Given the description of an element on the screen output the (x, y) to click on. 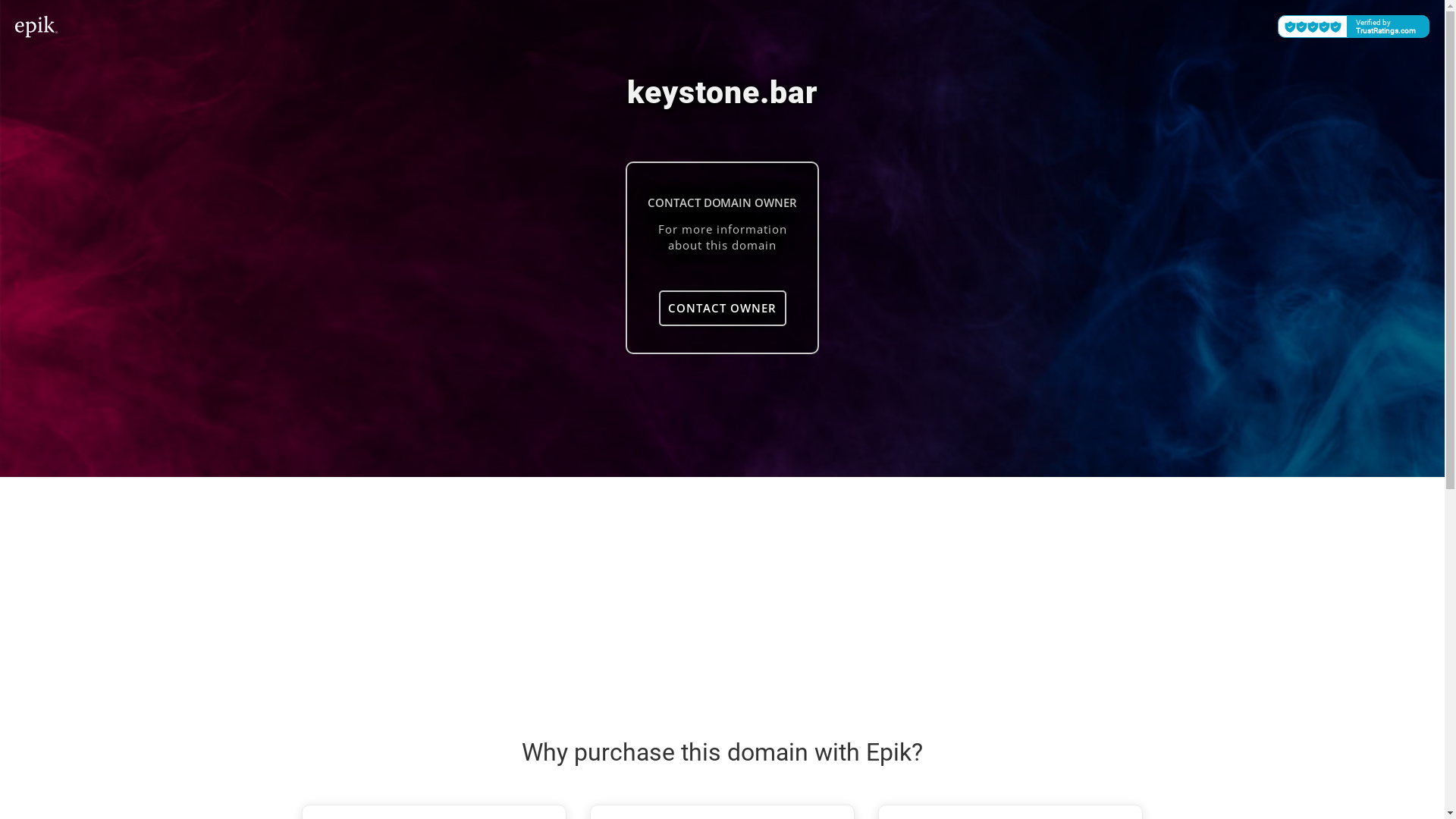
CONTACT OWNER Element type: text (721, 308)
Verified by TrustRatings.com Element type: hover (1353, 26)
